Given the description of an element on the screen output the (x, y) to click on. 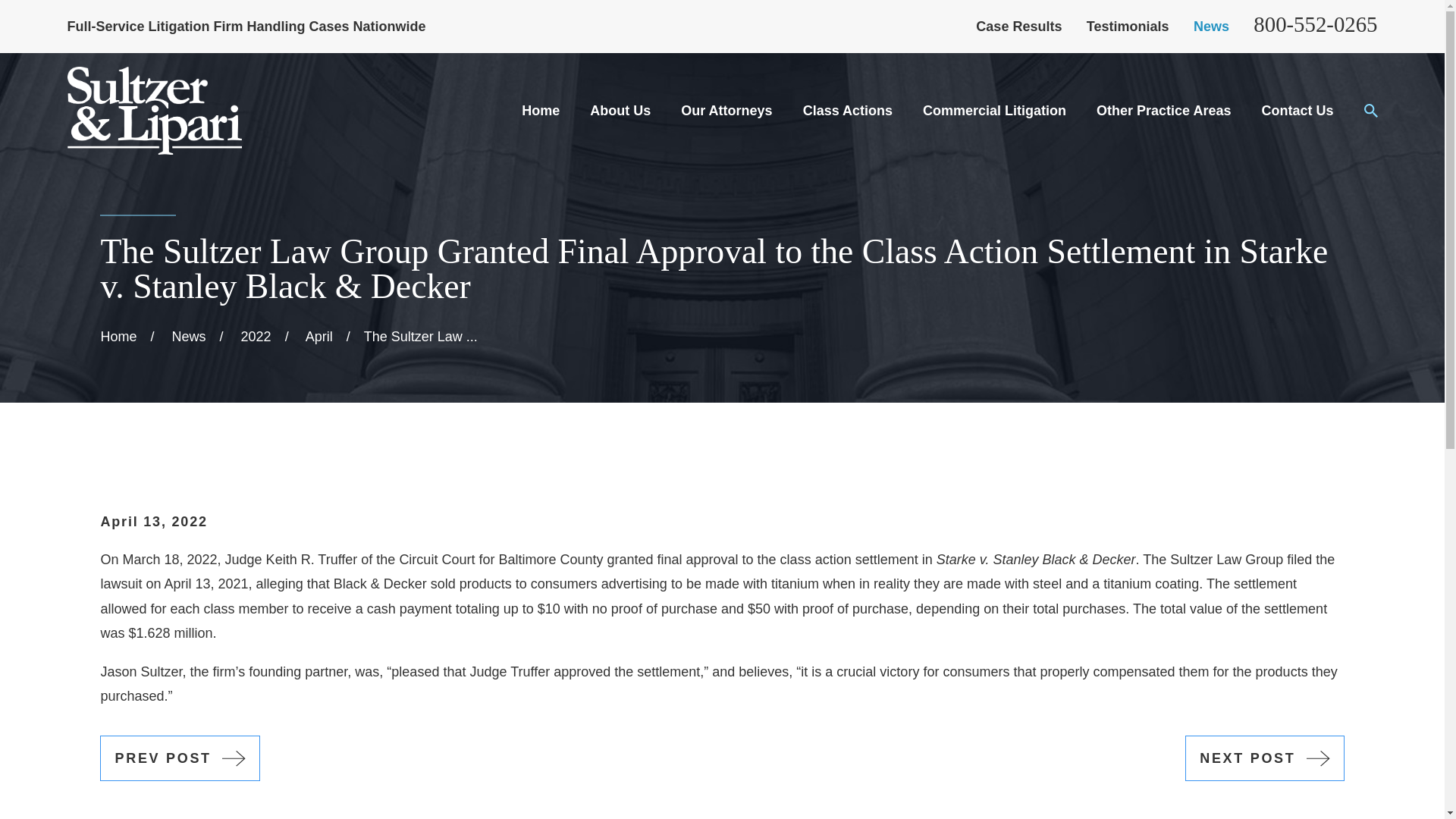
Contact Us (1296, 110)
Testimonials (1127, 26)
800-552-0265 (1315, 24)
Commercial Litigation (994, 110)
Other Practice Areas (1163, 110)
About Us (619, 110)
News (1210, 26)
Case Results (1018, 26)
Class Actions (847, 110)
Home (153, 110)
Our Attorneys (726, 110)
Go Home (118, 336)
